Given the description of an element on the screen output the (x, y) to click on. 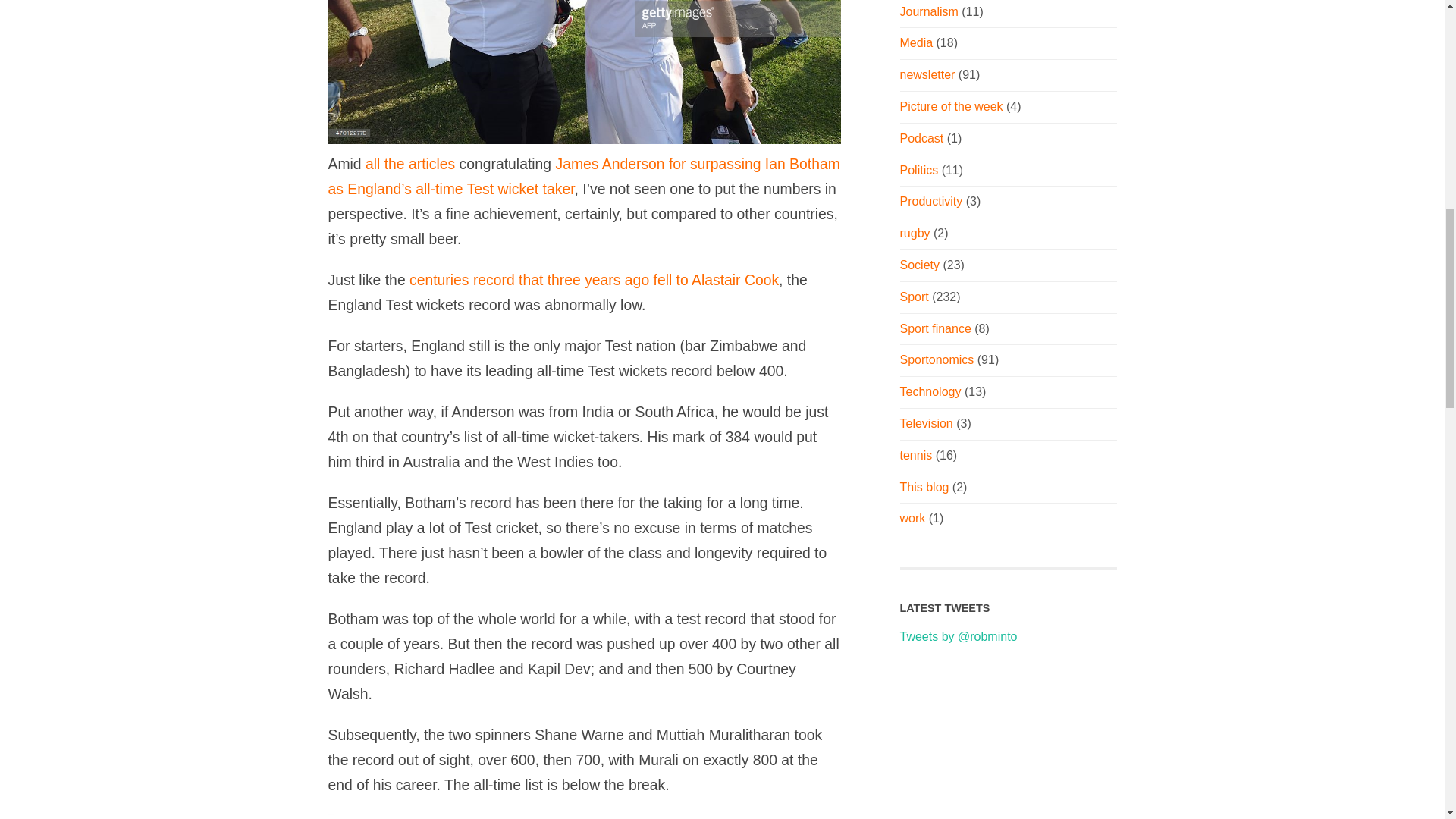
Sport and statistics (936, 359)
newsletter (927, 74)
centuries record that three years ago fell to Alastair Cook (593, 279)
Journalism (928, 11)
Picture of the week (951, 106)
Media (916, 42)
all the articles (918, 169)
